Given the description of an element on the screen output the (x, y) to click on. 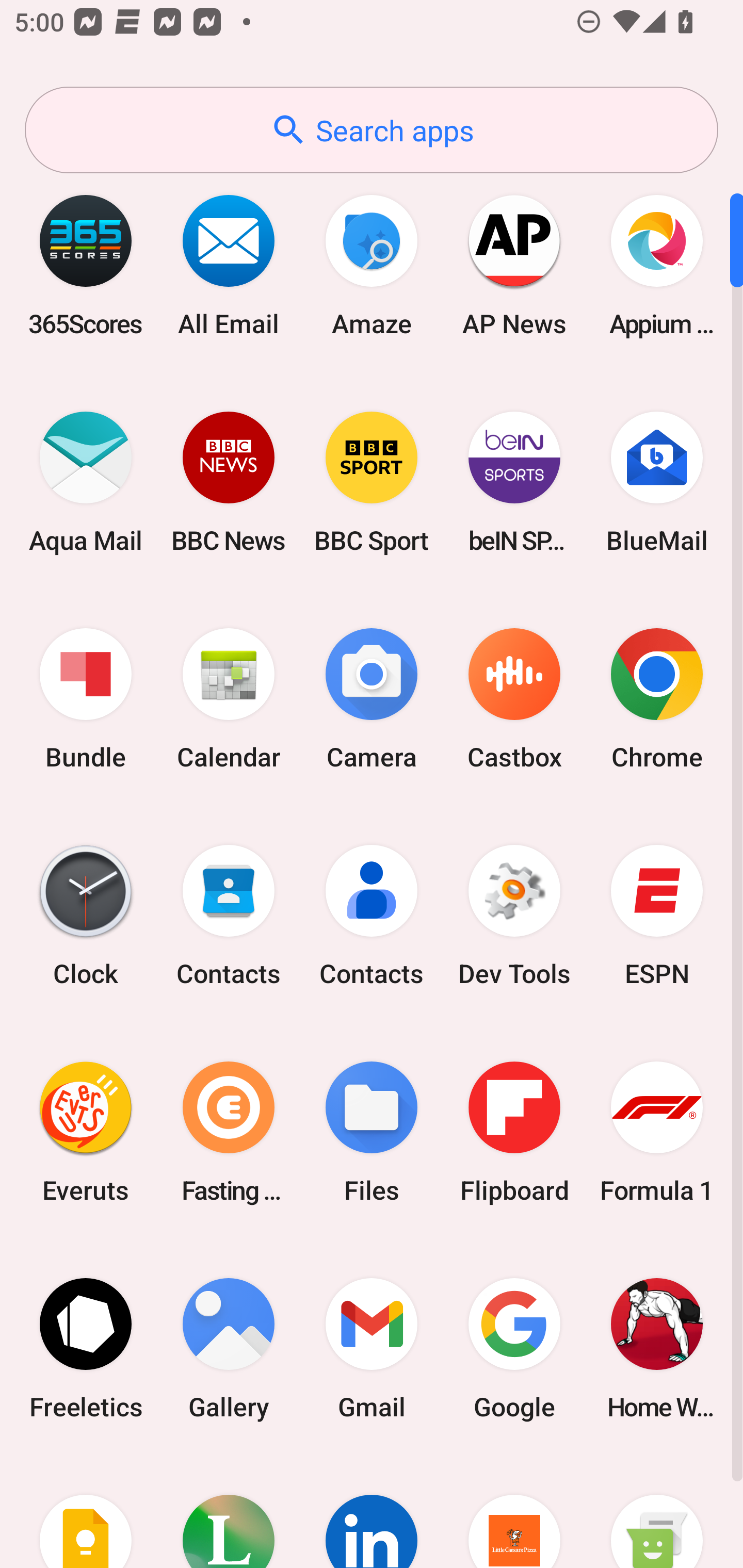
  Search apps (371, 130)
365Scores (85, 264)
All Email (228, 264)
Amaze (371, 264)
AP News (514, 264)
Appium Settings (656, 264)
Aqua Mail (85, 482)
BBC News (228, 482)
BBC Sport (371, 482)
beIN SPORTS (514, 482)
BlueMail (656, 482)
Bundle (85, 699)
Calendar (228, 699)
Camera (371, 699)
Castbox (514, 699)
Chrome (656, 699)
Clock (85, 915)
Contacts (228, 915)
Contacts (371, 915)
Dev Tools (514, 915)
ESPN (656, 915)
Everuts (85, 1131)
Fasting Coach (228, 1131)
Files (371, 1131)
Flipboard (514, 1131)
Formula 1 (656, 1131)
Freeletics (85, 1348)
Gallery (228, 1348)
Gmail (371, 1348)
Google (514, 1348)
Home Workout (656, 1348)
Keep Notes (85, 1512)
Lifesum (228, 1512)
LinkedIn (371, 1512)
Little Caesars Pizza (514, 1512)
Messaging (656, 1512)
